Given the description of an element on the screen output the (x, y) to click on. 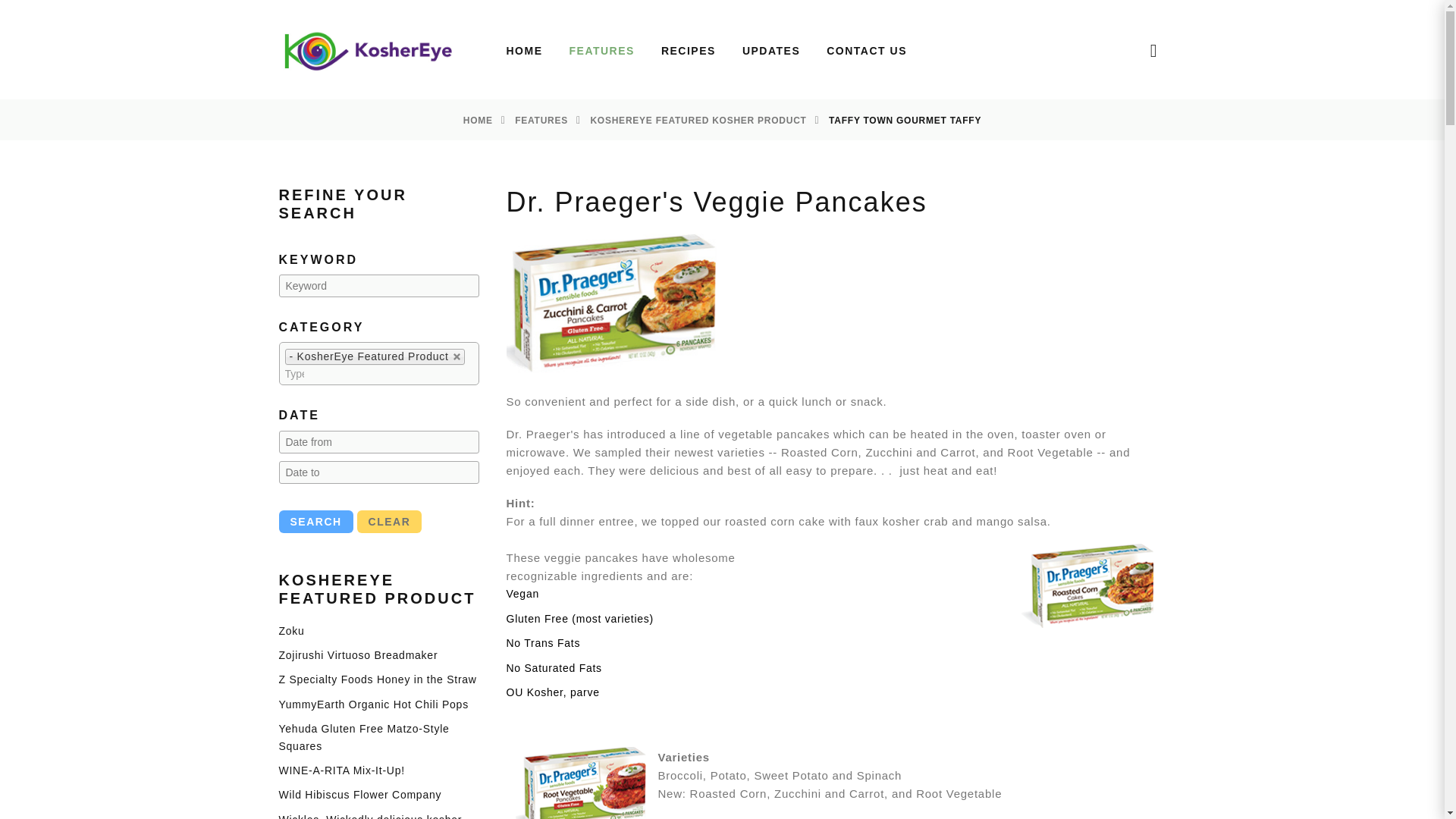
Type or select some options (294, 373)
Clear (389, 521)
Search (316, 521)
